Given the description of an element on the screen output the (x, y) to click on. 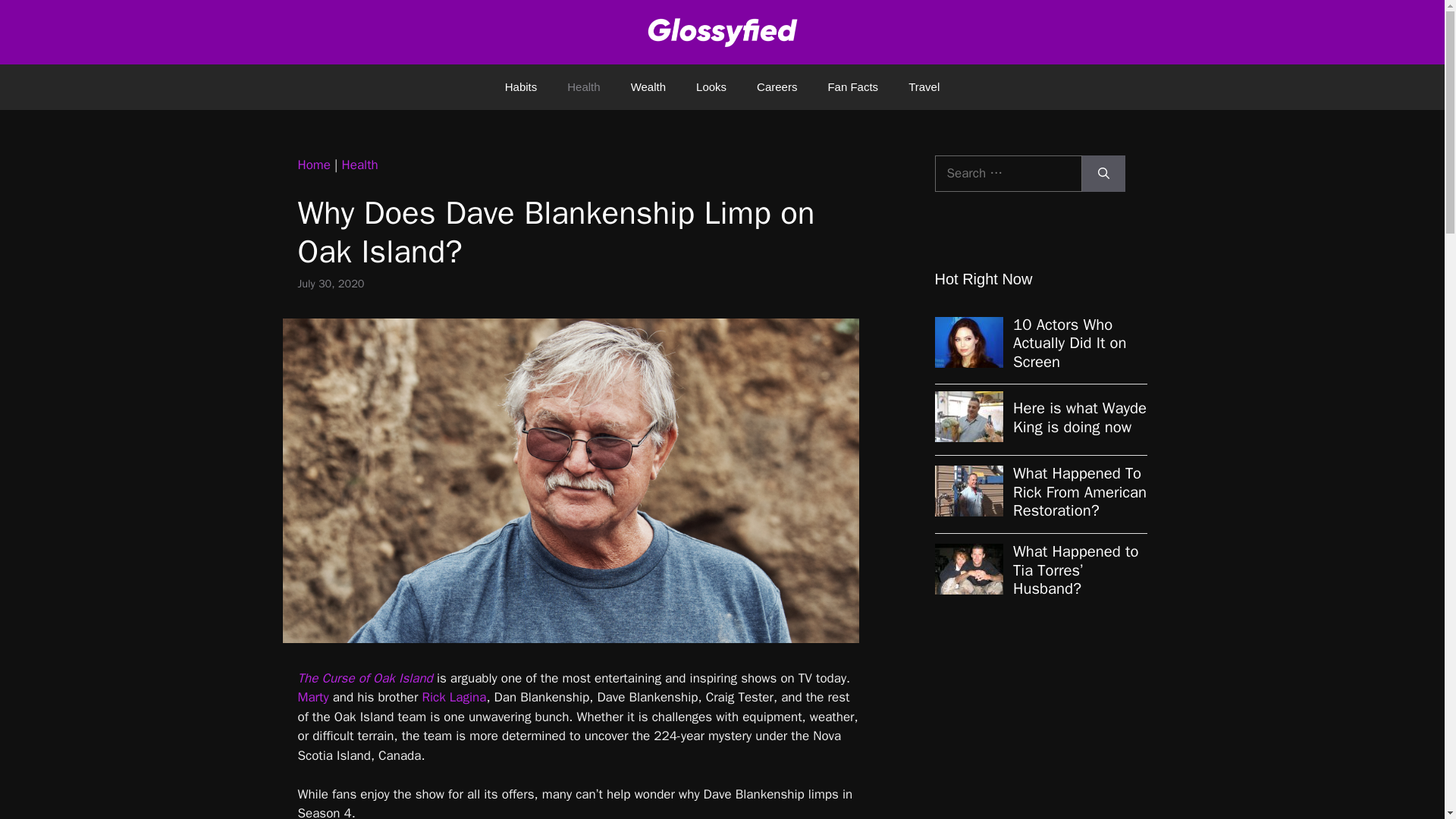
Rick Lagina (454, 697)
The Curse of Oak Island (364, 678)
Looks (711, 86)
Fan Facts (852, 86)
Home (313, 164)
Marty (313, 697)
Wealth (648, 86)
Search for: (1007, 173)
Habits (521, 86)
